Given the description of an element on the screen output the (x, y) to click on. 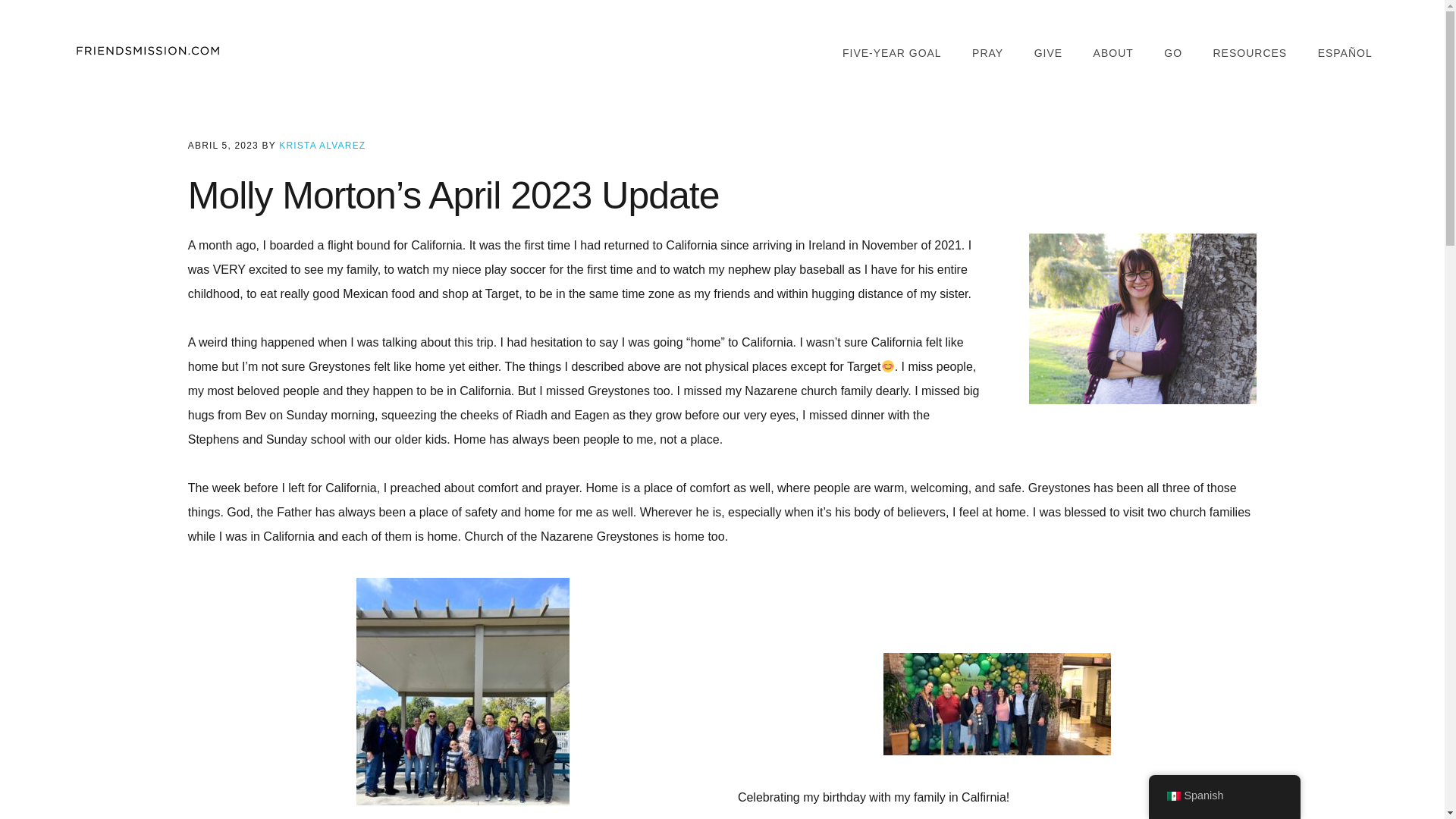
KRISTA ALVAREZ (322, 145)
FIVE-YEAR GOAL (892, 53)
RESOURCES (1249, 53)
Spanish (1172, 795)
FRIENDSMISSION.COM (147, 50)
